Given the description of an element on the screen output the (x, y) to click on. 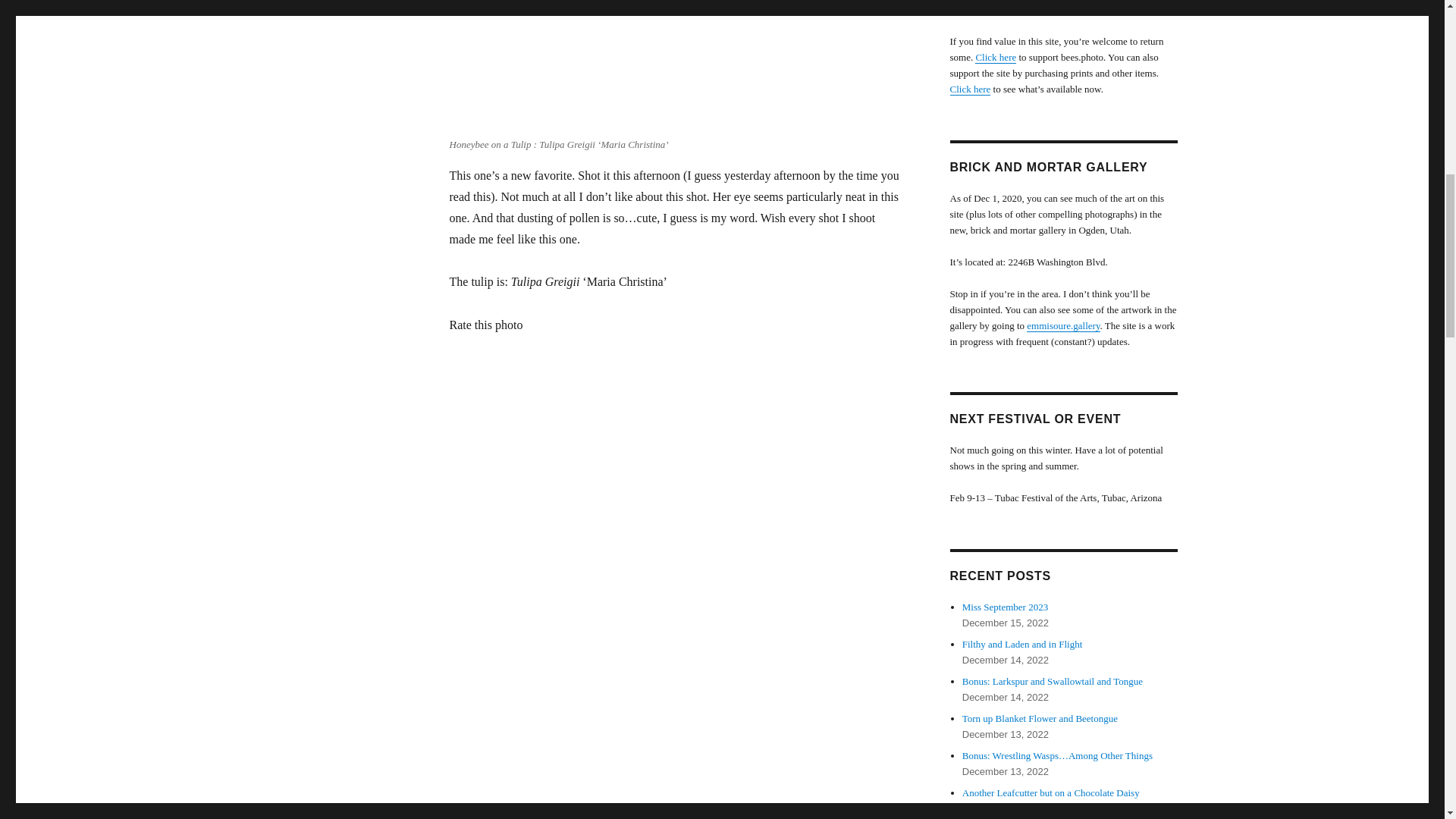
Click here (969, 89)
Bonus: Larkspur and Swallowtail and Tongue (1052, 681)
Filthy and Laden and in Flight (1022, 644)
Miss September 2023 (1005, 606)
Torn up Blanket Flower and Beetongue (1040, 717)
Click here (995, 57)
emmisoure.gallery (1062, 325)
Another Leafcutter but on a Chocolate Daisy (1051, 792)
